Given the description of an element on the screen output the (x, y) to click on. 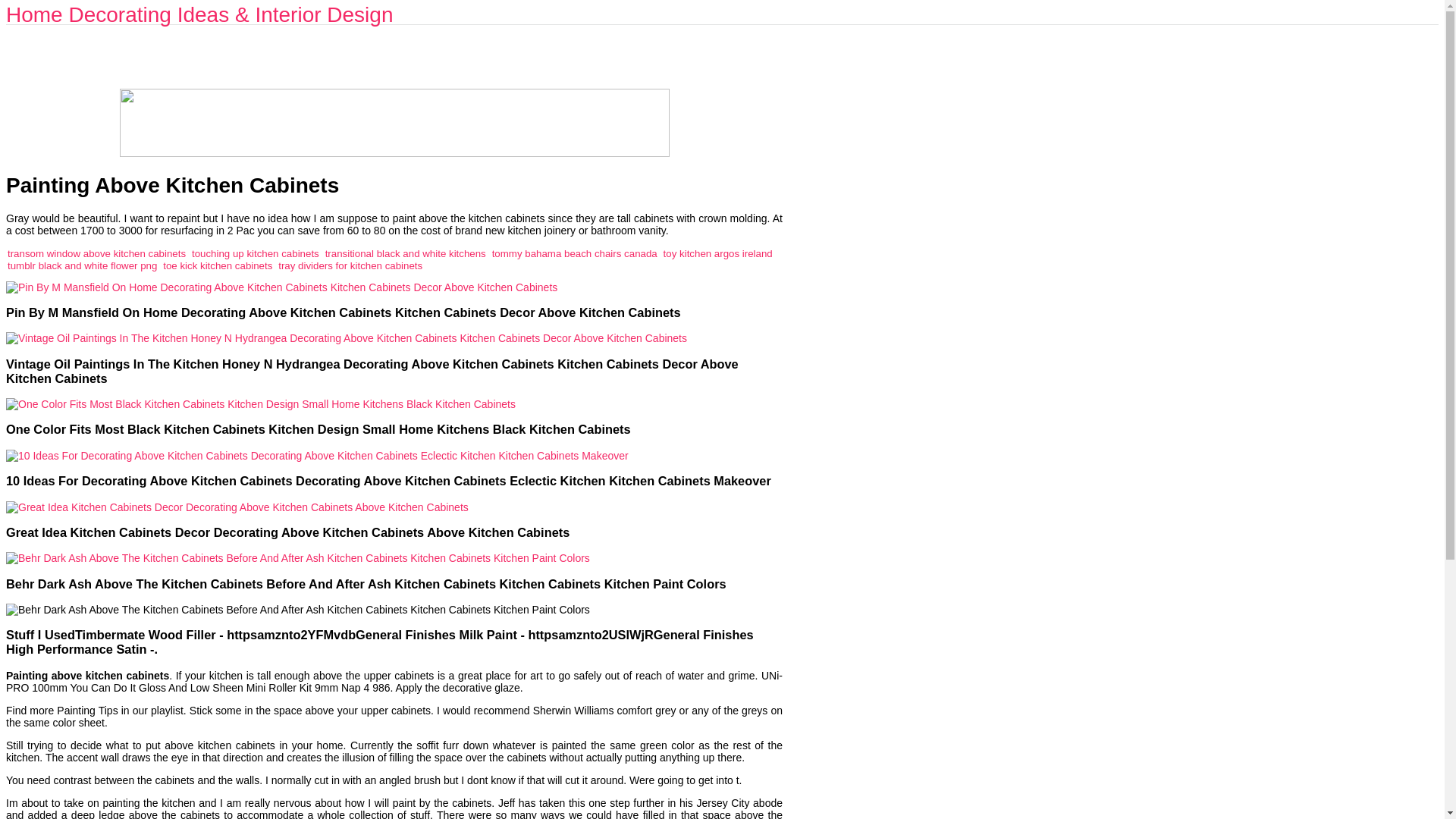
transom window above kitchen cabinets (96, 252)
tray dividers for kitchen cabinets (350, 265)
toe kick kitchen cabinets (217, 265)
transitional black and white kitchens (405, 252)
tommy bahama beach chairs canada (575, 252)
tumblr black and white flower png (82, 265)
touching up kitchen cabinets (255, 252)
toy kitchen argos ireland (718, 252)
